Given the description of an element on the screen output the (x, y) to click on. 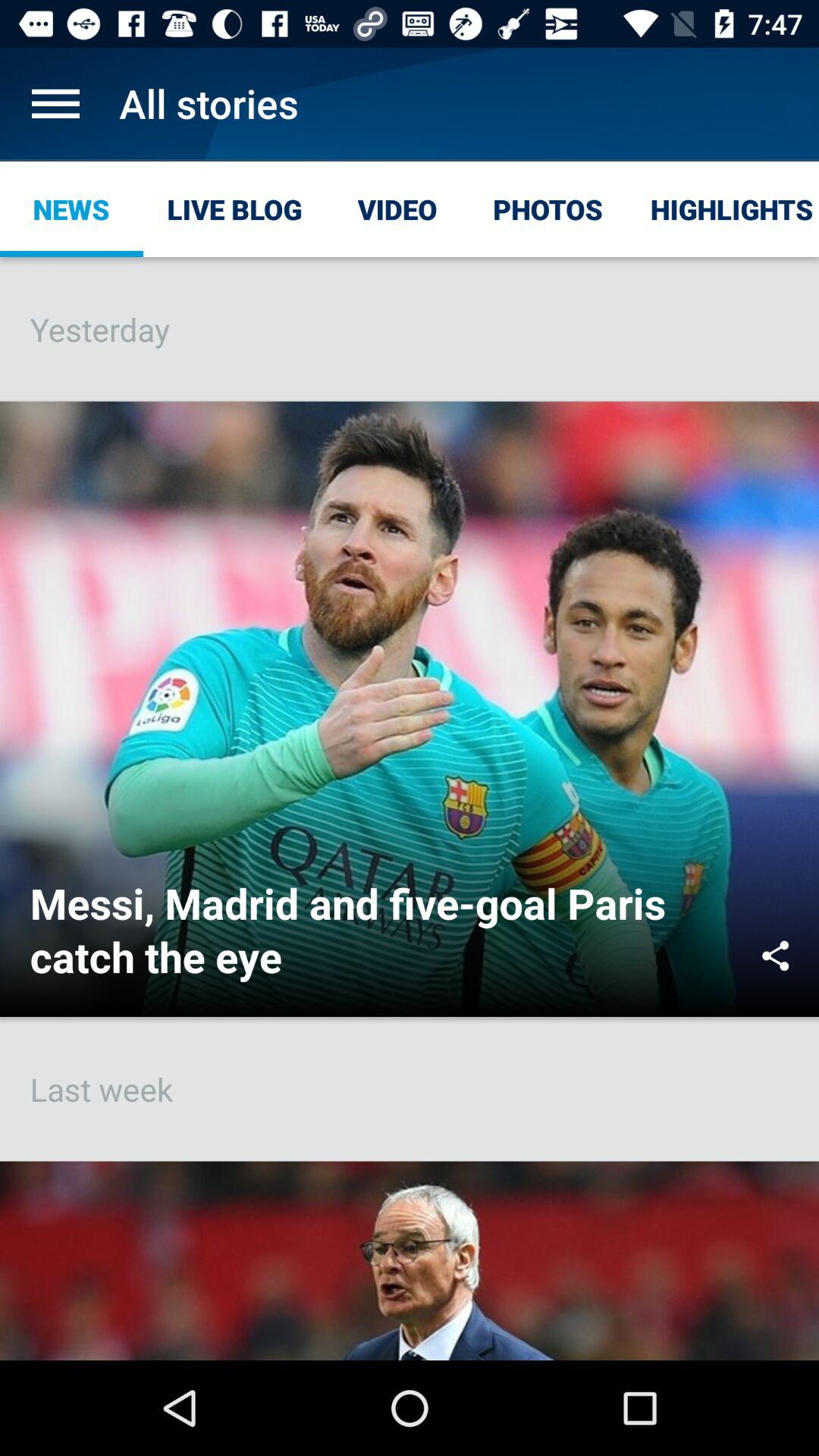
turn on icon to the right of messi madrid and (775, 955)
